Given the description of an element on the screen output the (x, y) to click on. 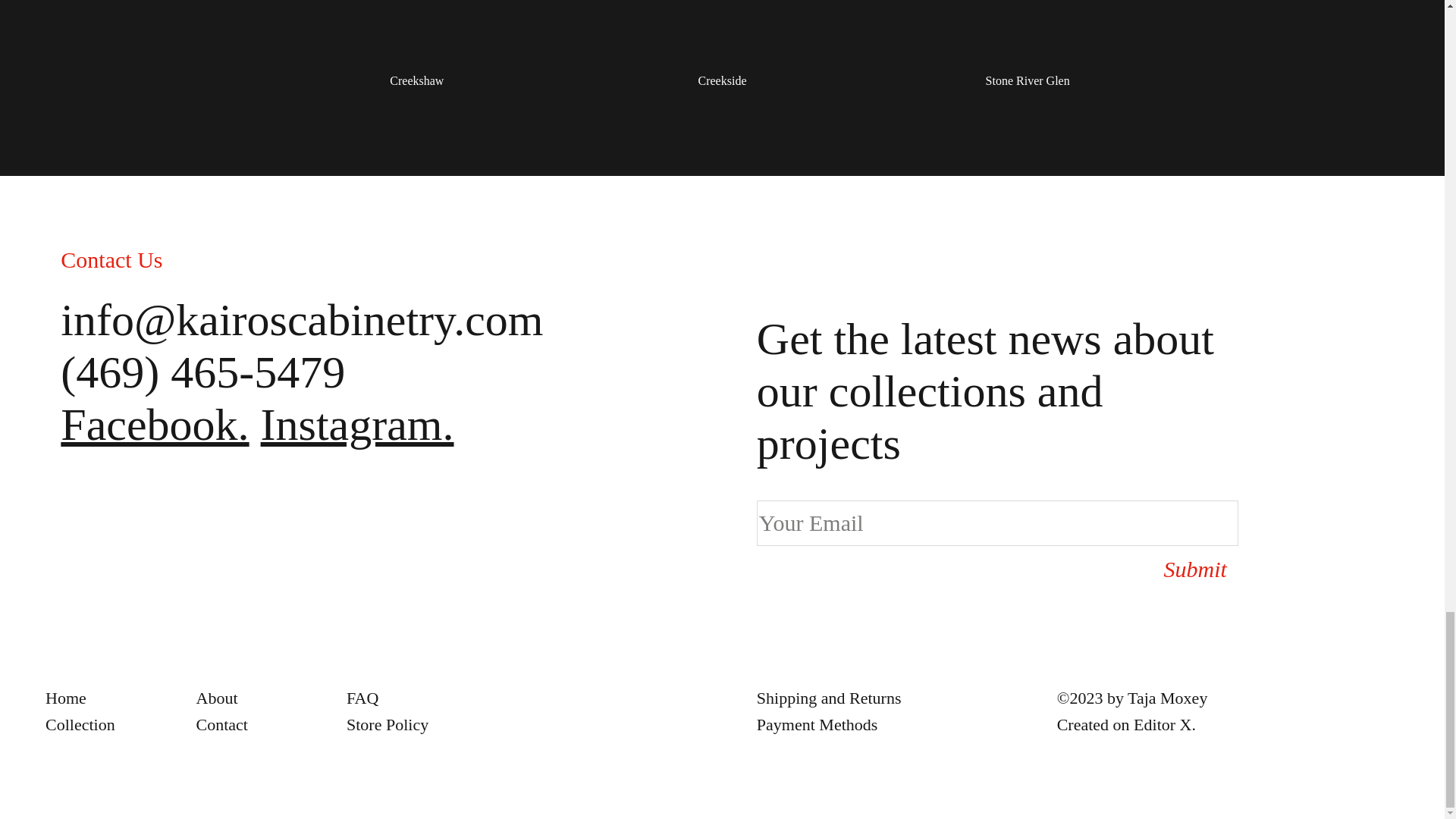
Editor X. (1164, 723)
Payment Methods (817, 723)
About (216, 697)
Shipping and Returns (829, 697)
Store Policy (387, 723)
Facebook. (154, 424)
Home (65, 697)
Submit (1166, 569)
Contact (221, 723)
Instagram. (357, 424)
FAQ (362, 697)
Collection (80, 723)
